Given the description of an element on the screen output the (x, y) to click on. 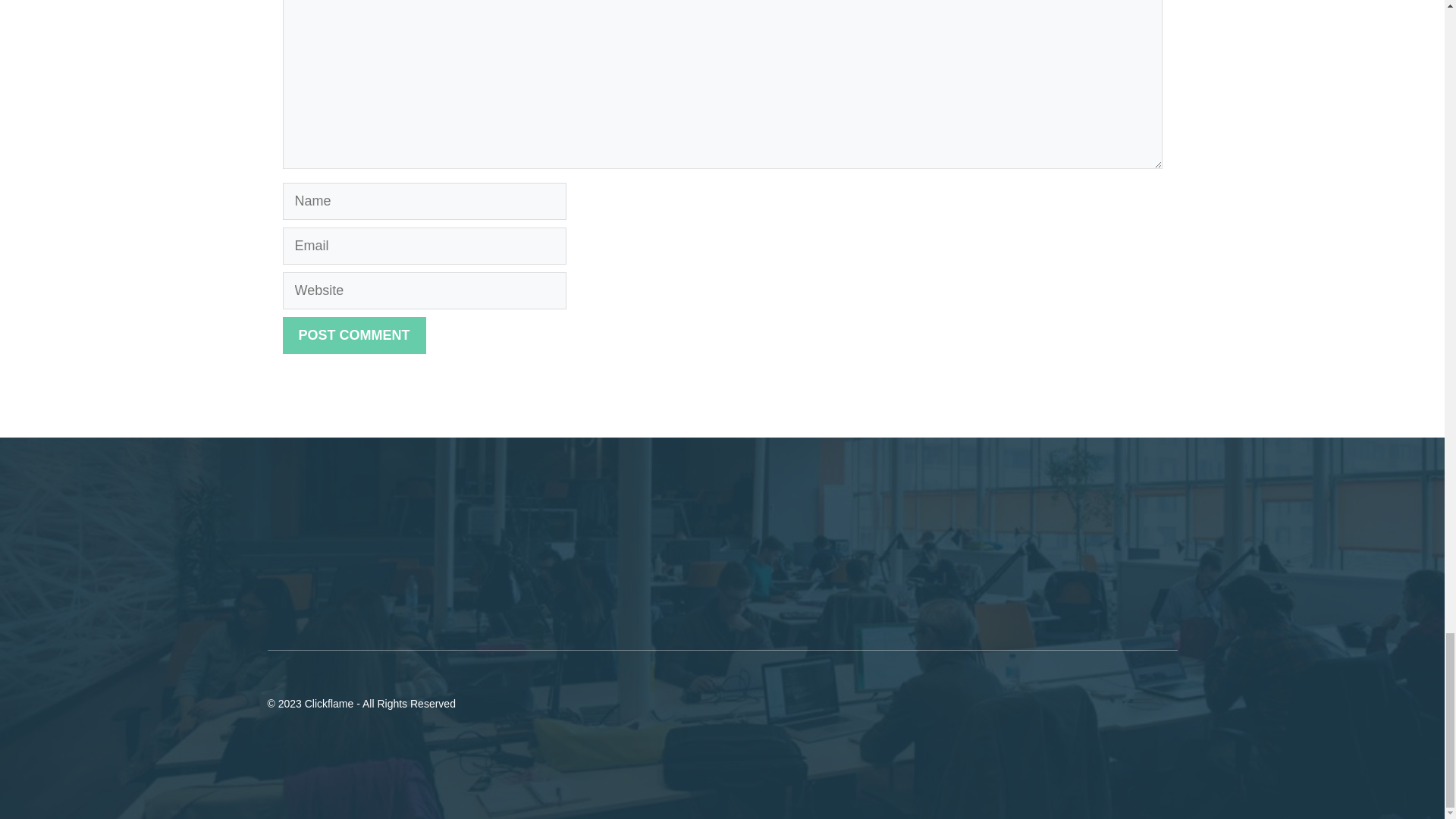
Post Comment (353, 334)
Post Comment (353, 334)
